Given the description of an element on the screen output the (x, y) to click on. 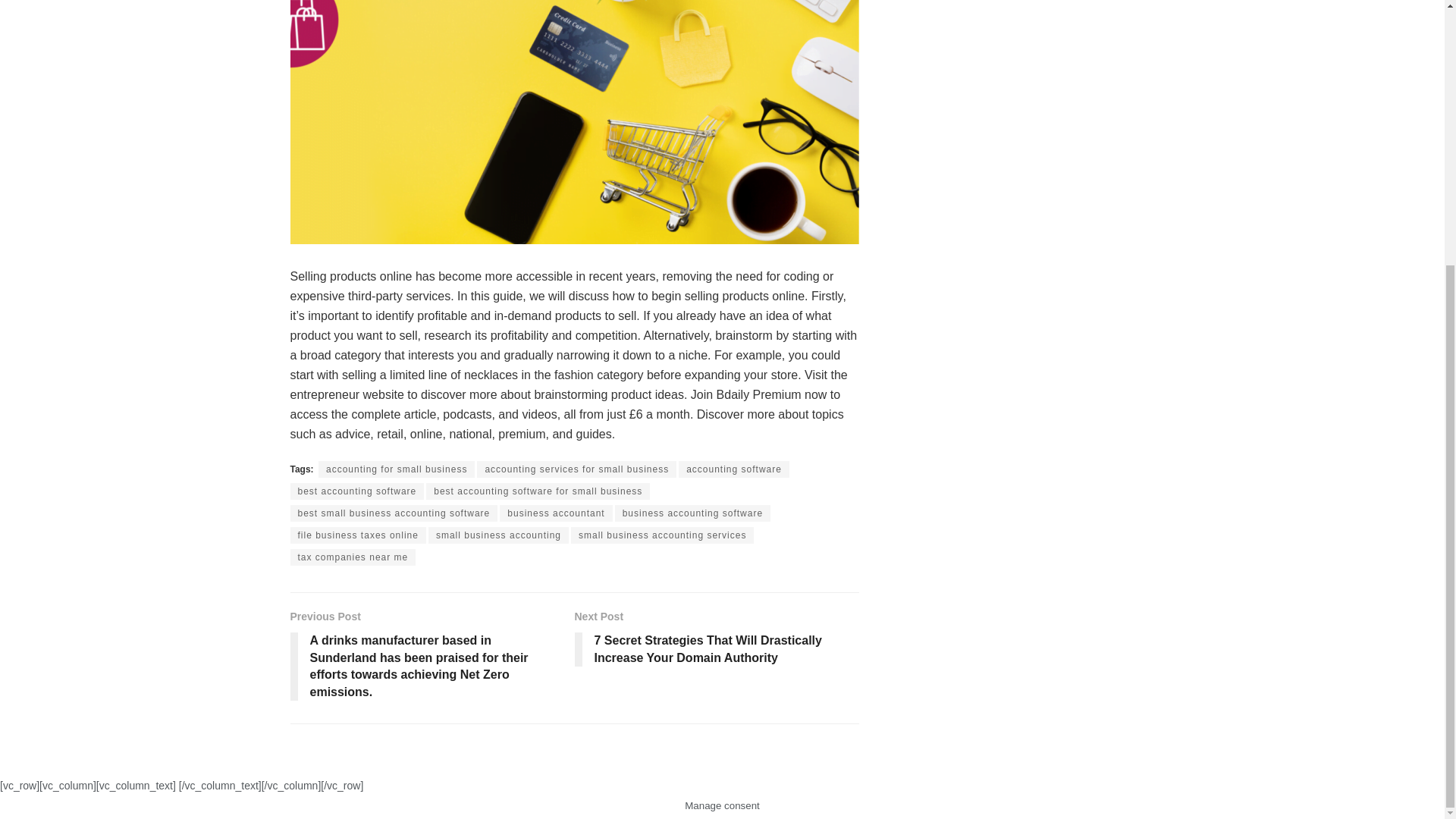
accounting for small business (396, 469)
accounting services for small business (577, 469)
best accounting software (356, 491)
accounting software (733, 469)
